Given the description of an element on the screen output the (x, y) to click on. 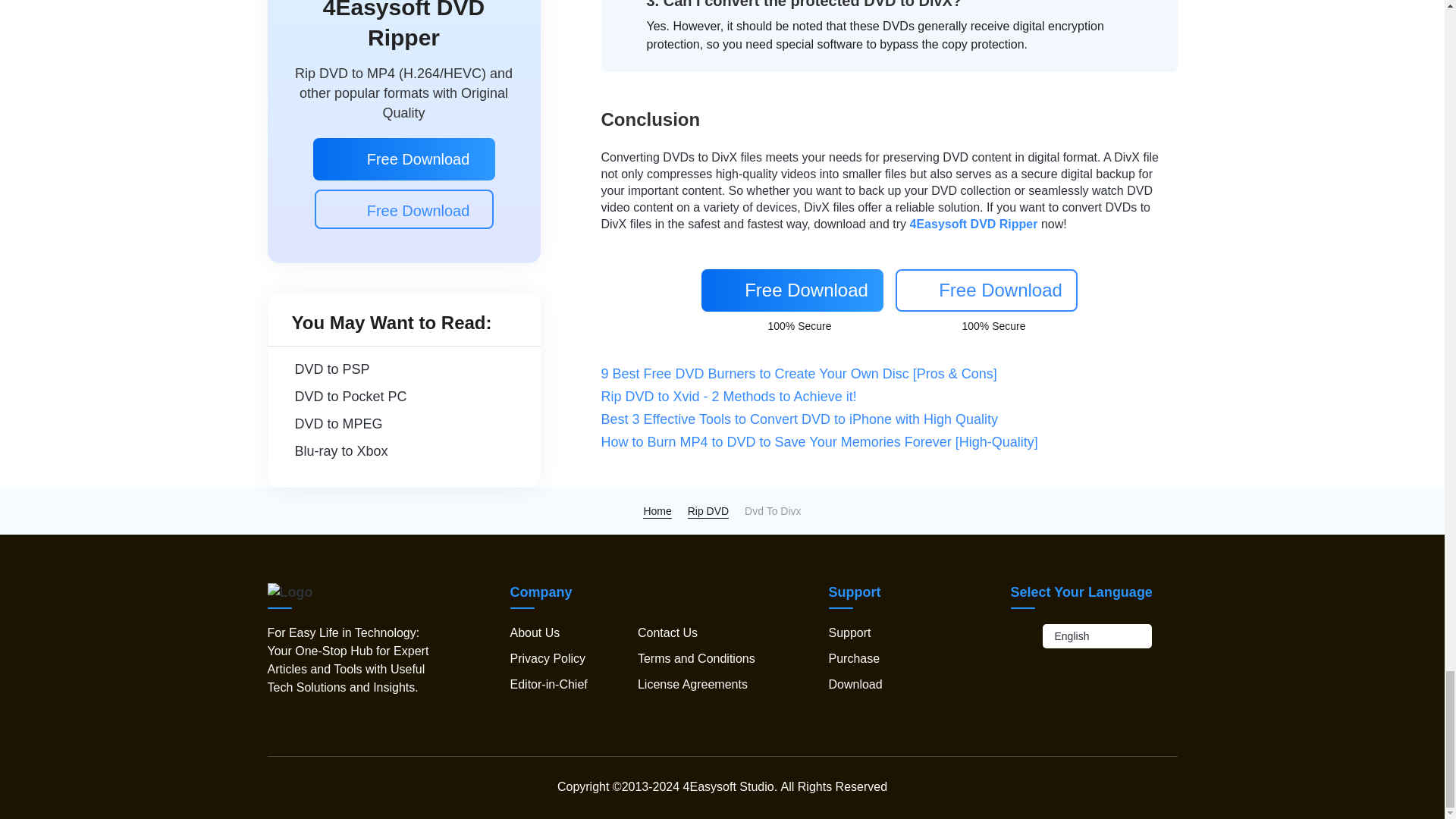
Contact Us (667, 632)
About Us (534, 632)
Editor-in-Chief (547, 684)
Terms and Conditions (696, 658)
4Easysoft DVD Ripper (974, 223)
License Agreements (692, 684)
Privacy Policy (547, 658)
Free Download (791, 290)
Rip DVD (708, 510)
